Given the description of an element on the screen output the (x, y) to click on. 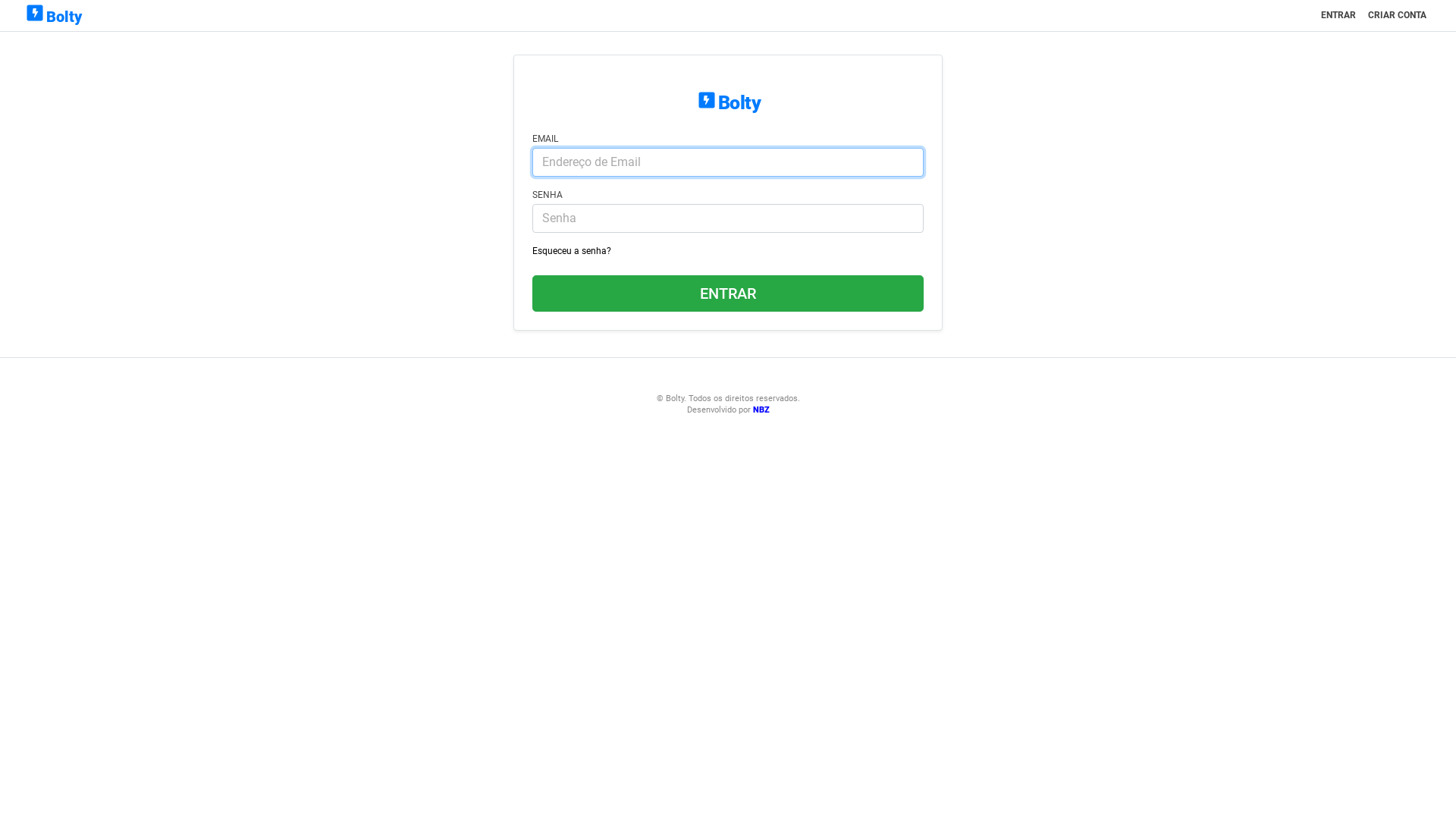
ENTRAR Element type: text (1337, 15)
Esqueceu a senha? Element type: text (571, 250)
ENTRAR Element type: text (727, 293)
Bolty Element type: text (52, 15)
NBZ Element type: text (760, 409)
CRIAR CONTA Element type: text (1396, 15)
